Given the description of an element on the screen output the (x, y) to click on. 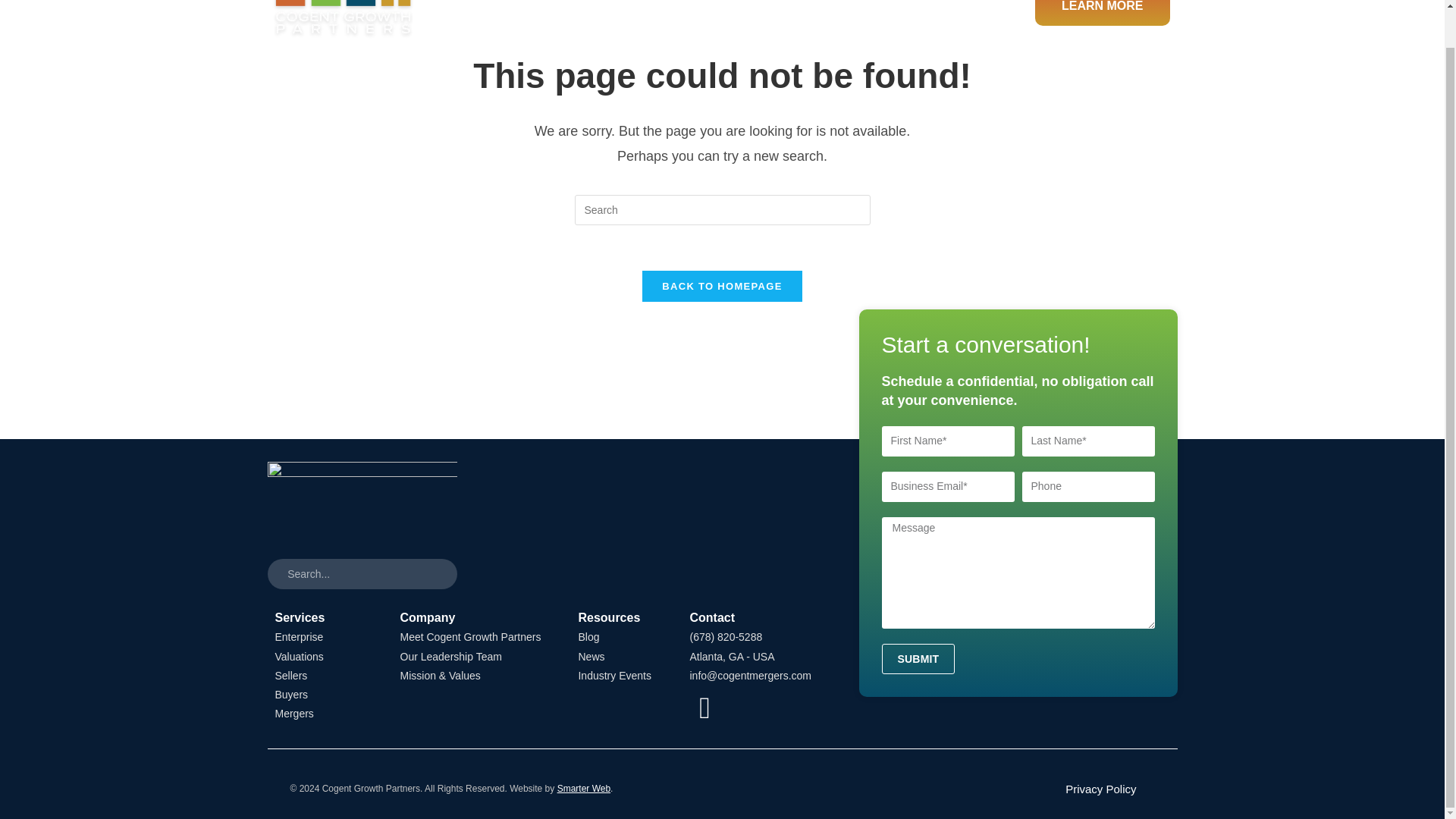
Meet Cogent Growth Partners (474, 637)
BACK TO HOMEPAGE (722, 286)
Mergers (322, 713)
Services (707, 18)
Buyers (322, 694)
Resources (941, 18)
SUBMIT (917, 658)
Sellers (322, 675)
About Us (820, 18)
Our Leadership Team (474, 656)
